Given the description of an element on the screen output the (x, y) to click on. 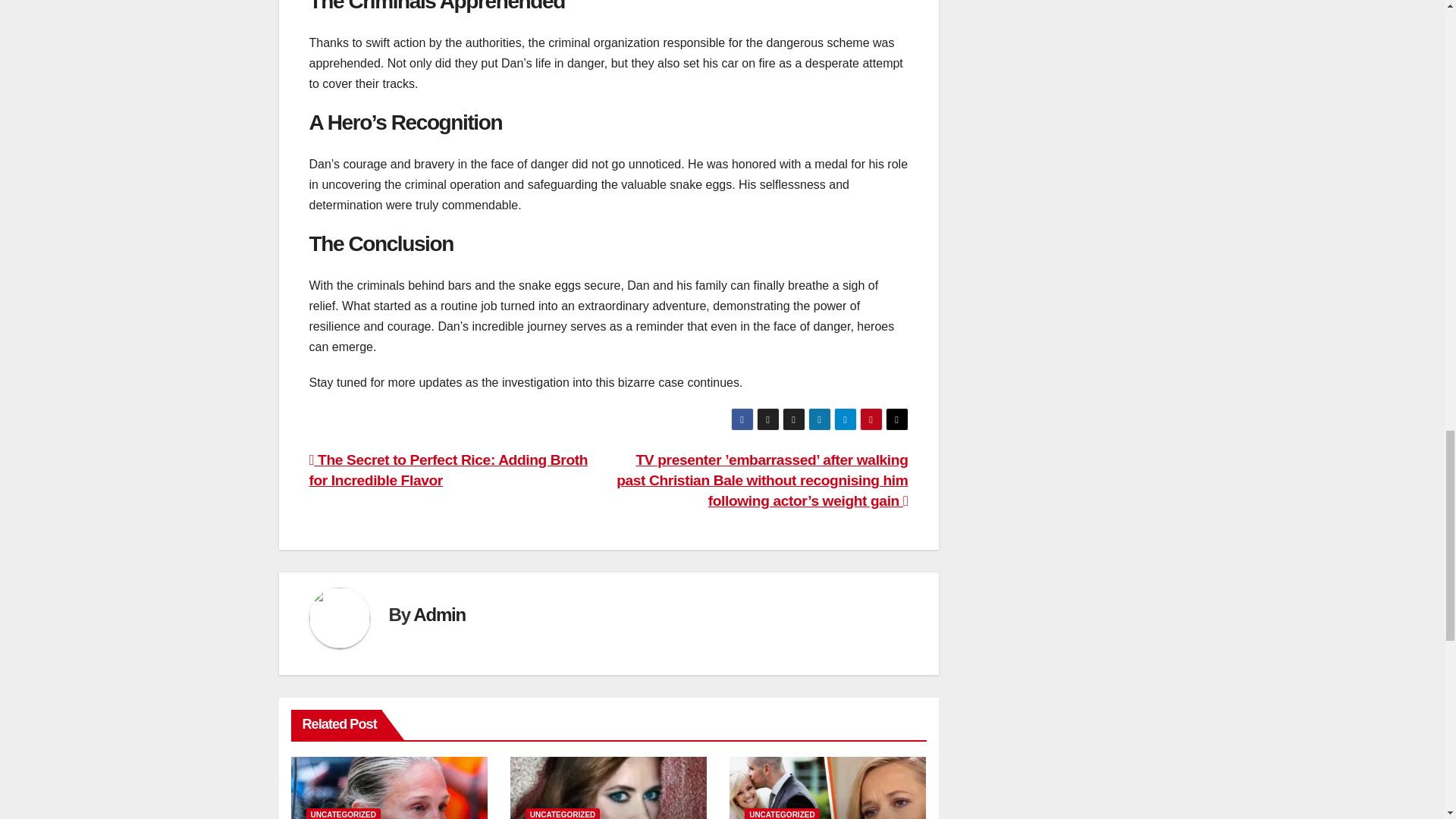
UNCATEGORIZED (562, 813)
UNCATEGORIZED (342, 813)
Admin (439, 614)
